Given the description of an element on the screen output the (x, y) to click on. 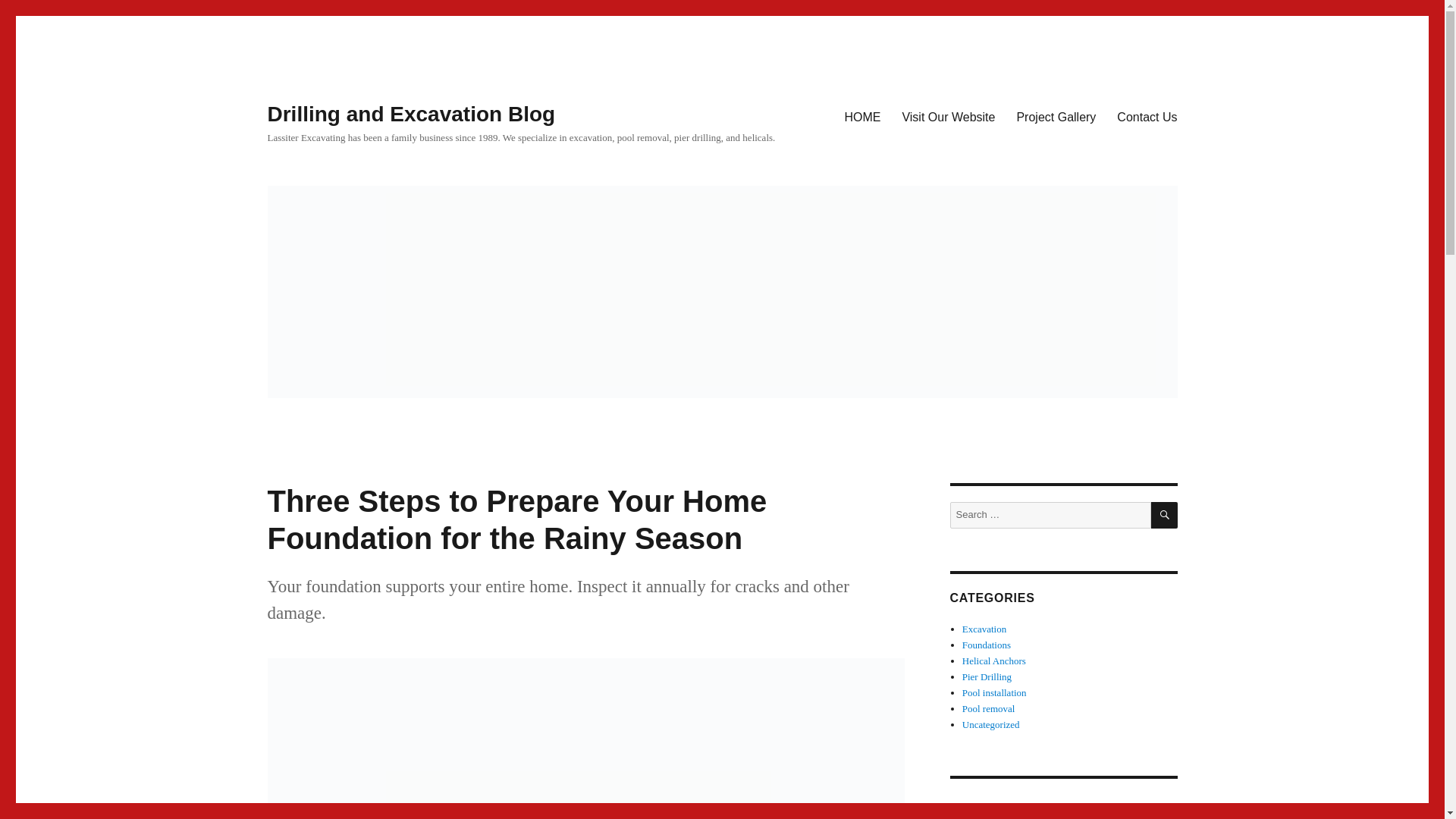
Drilling and Excavation Blog (410, 114)
Project Gallery (1056, 116)
Contact Us (1147, 116)
Visit Our Website (948, 116)
HOME (861, 116)
